Given the description of an element on the screen output the (x, y) to click on. 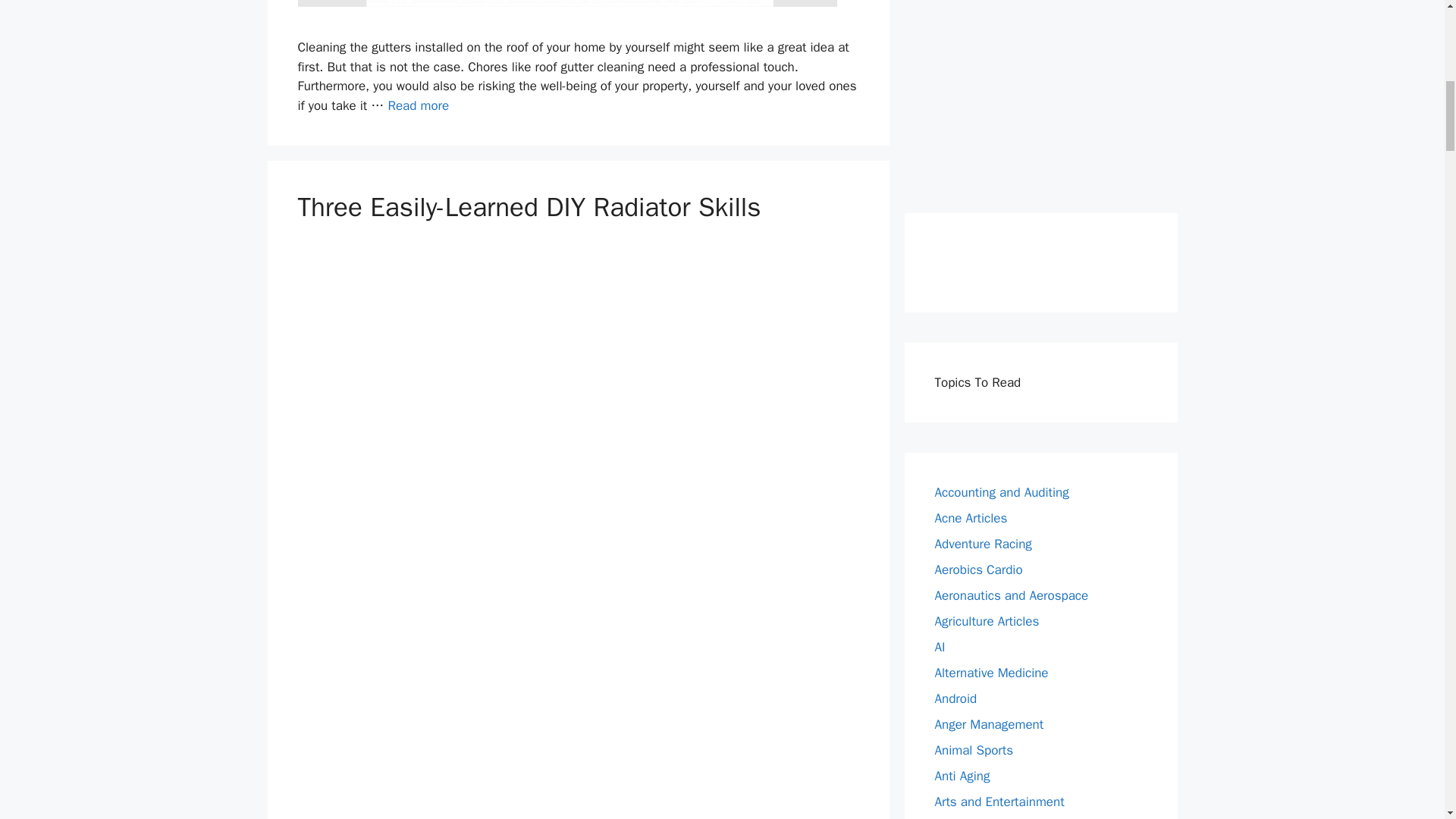
Three Easily-Learned DIY Radiator Skills (528, 206)
Read more (417, 105)
